Given the description of an element on the screen output the (x, y) to click on. 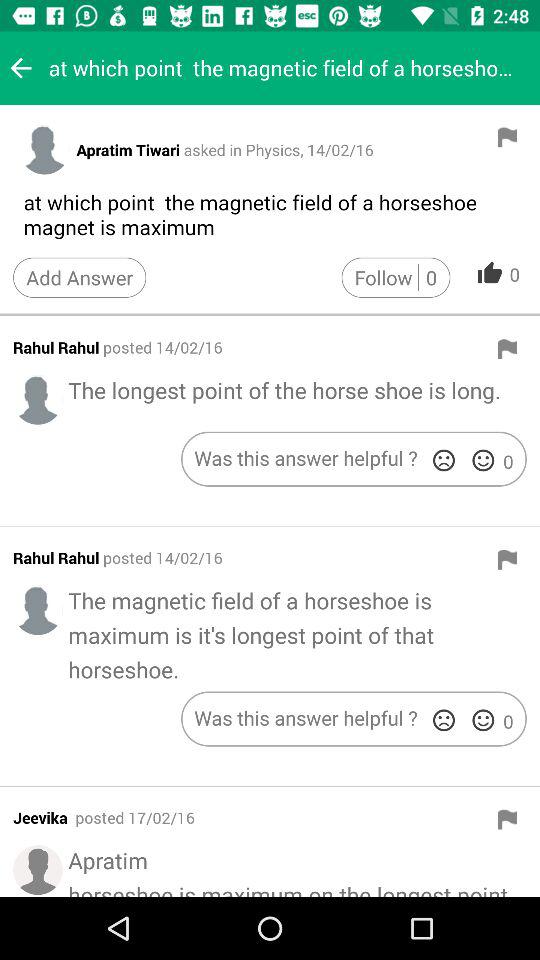
add favorite (483, 720)
